Given the description of an element on the screen output the (x, y) to click on. 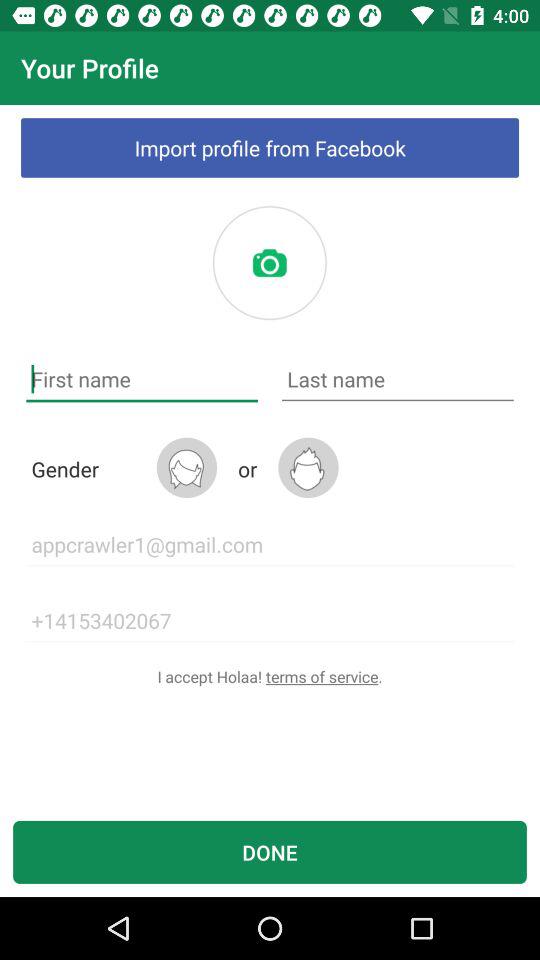
tap the item above the +14153402067 icon (270, 544)
